Given the description of an element on the screen output the (x, y) to click on. 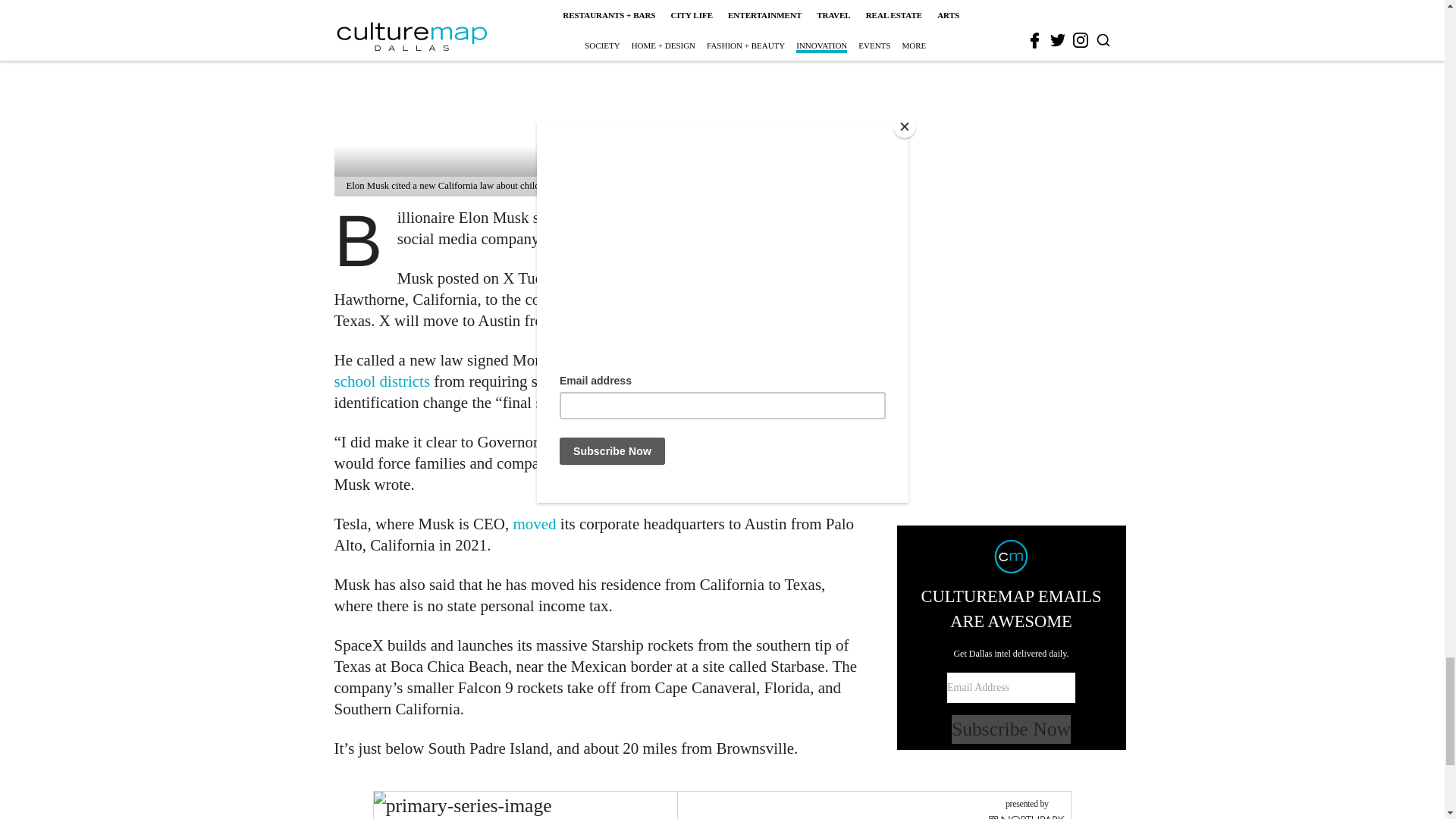
primary-link (525, 805)
Subscribe Now (1011, 485)
